Given the description of an element on the screen output the (x, y) to click on. 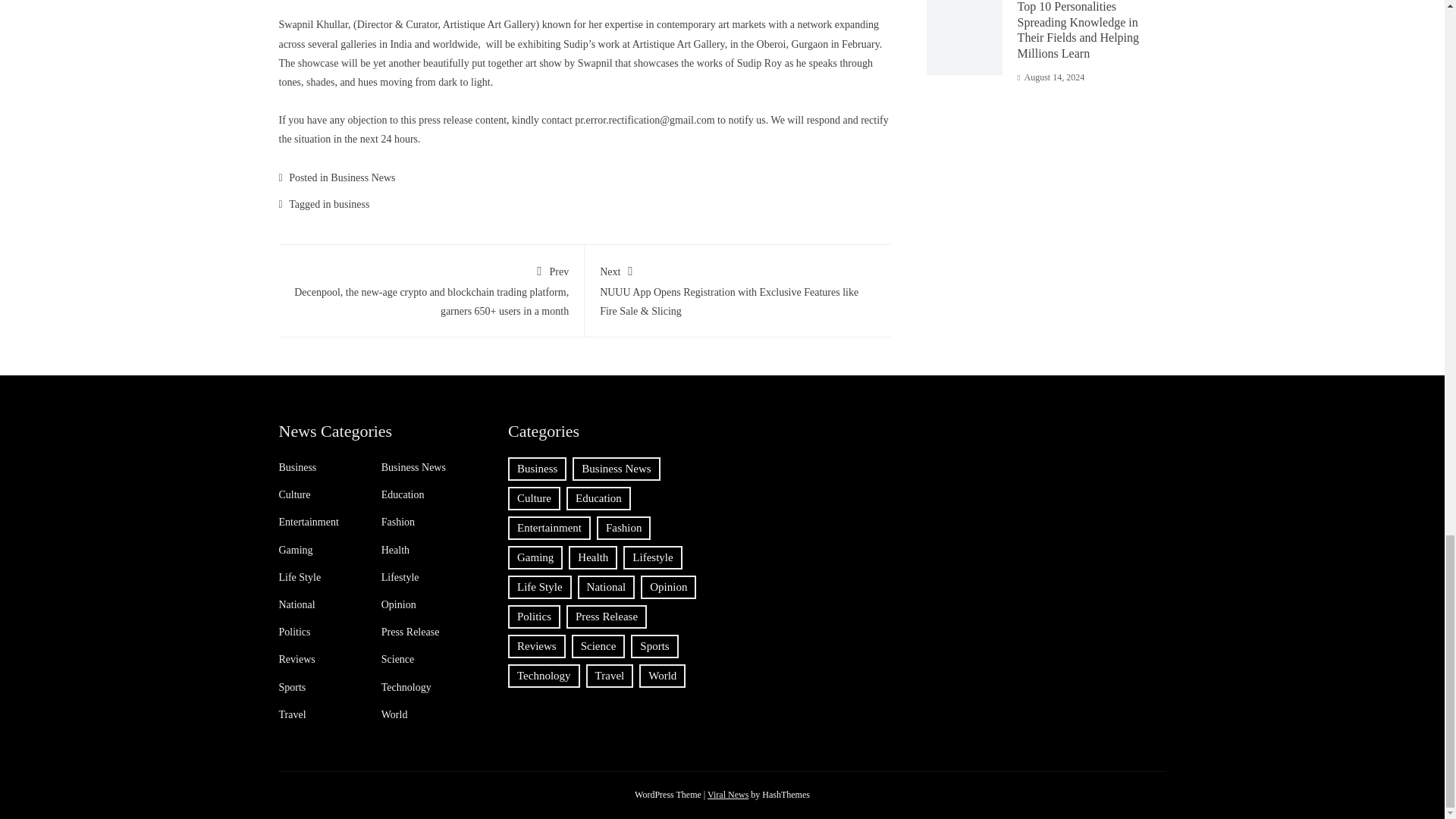
Business News (362, 177)
business (351, 204)
Download Viral News (727, 794)
Business (298, 468)
